Given the description of an element on the screen output the (x, y) to click on. 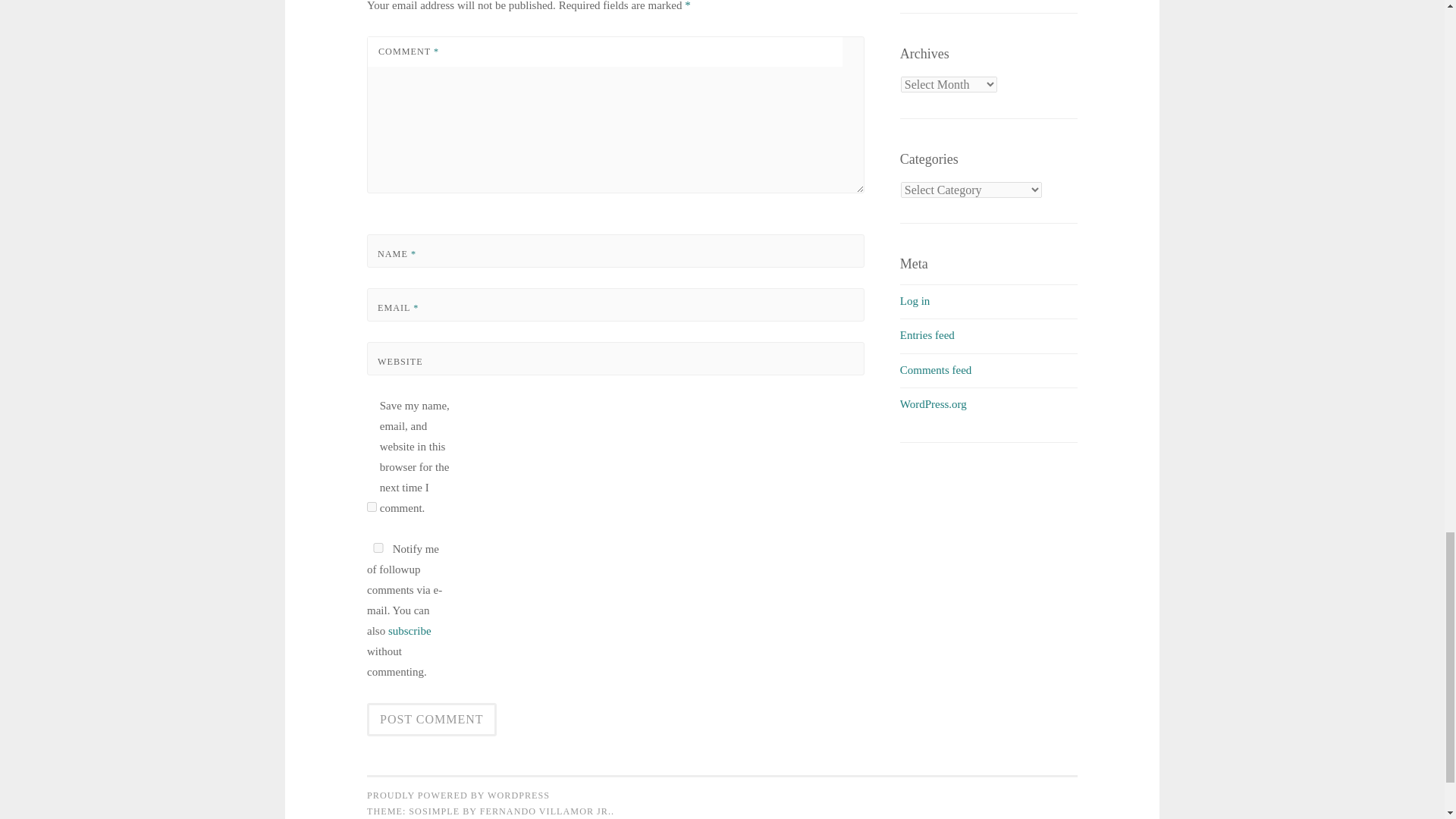
yes (378, 547)
subscribe (409, 630)
Post Comment (431, 719)
Post Comment (431, 719)
yes (371, 506)
